Given the description of an element on the screen output the (x, y) to click on. 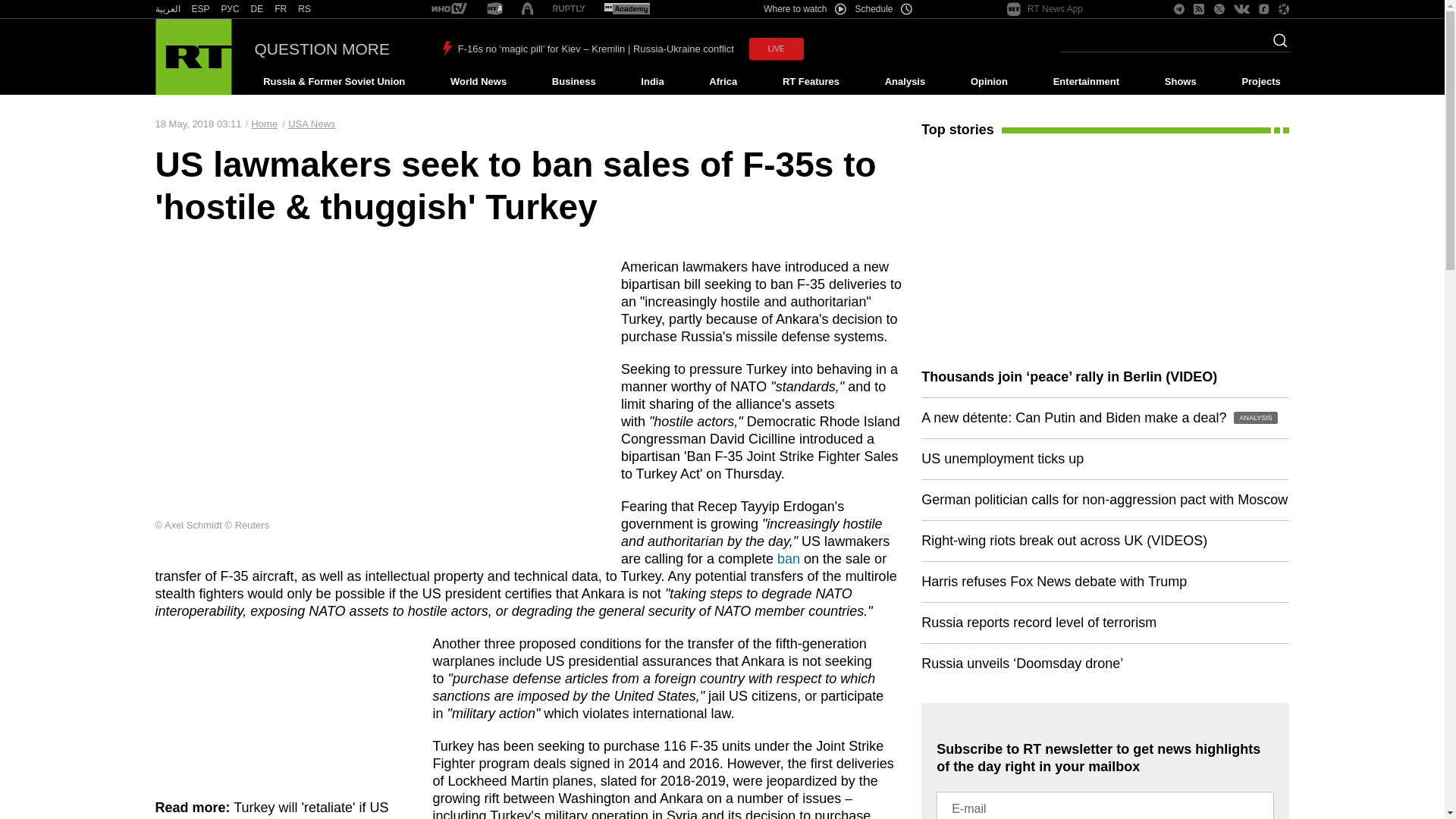
RT News App (1045, 9)
RT  (304, 9)
RS (304, 9)
LIVE (776, 48)
QUESTION MORE (322, 48)
DE (256, 9)
RT Features (810, 81)
Projects (1261, 81)
Business (573, 81)
RT  (494, 9)
RT  (448, 9)
RT  (166, 9)
Schedule (884, 9)
RT  (256, 9)
Search (1276, 44)
